Given the description of an element on the screen output the (x, y) to click on. 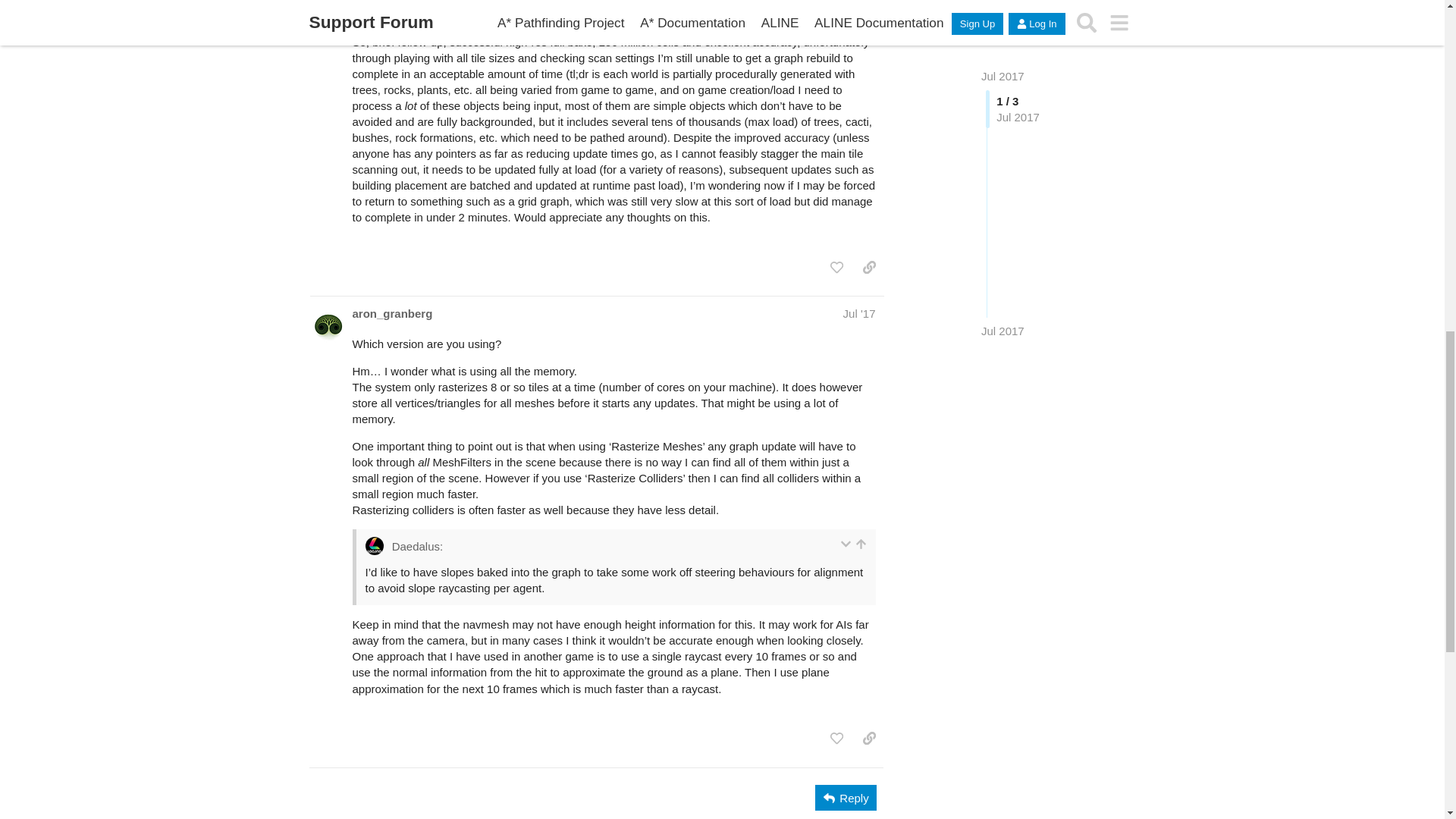
Jul '17 (859, 11)
Jul '17 (859, 313)
Daedalus (377, 11)
